Given the description of an element on the screen output the (x, y) to click on. 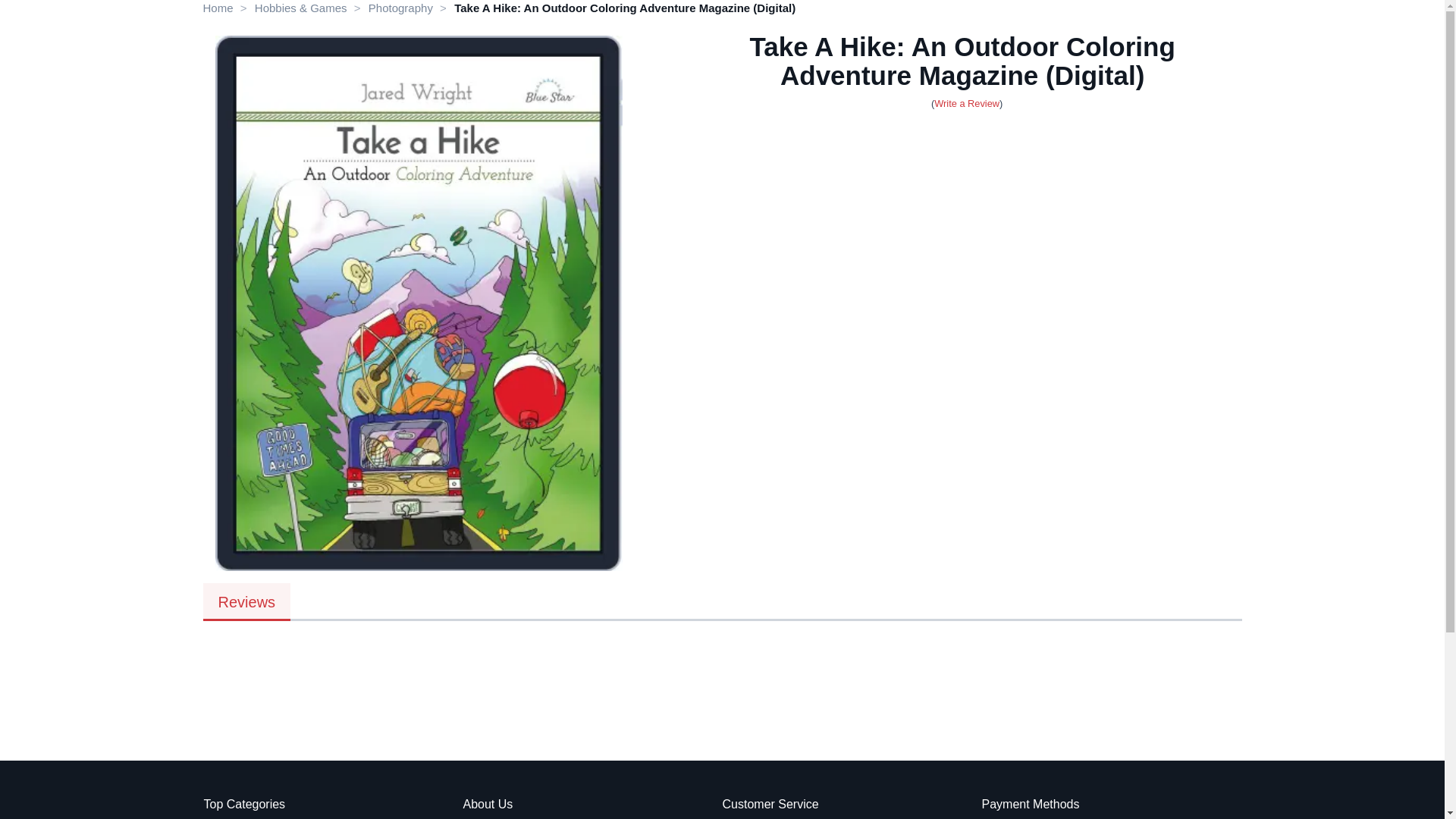
Reviews (247, 601)
Write a Review (966, 102)
Photography (400, 7)
Home (217, 7)
